Given the description of an element on the screen output the (x, y) to click on. 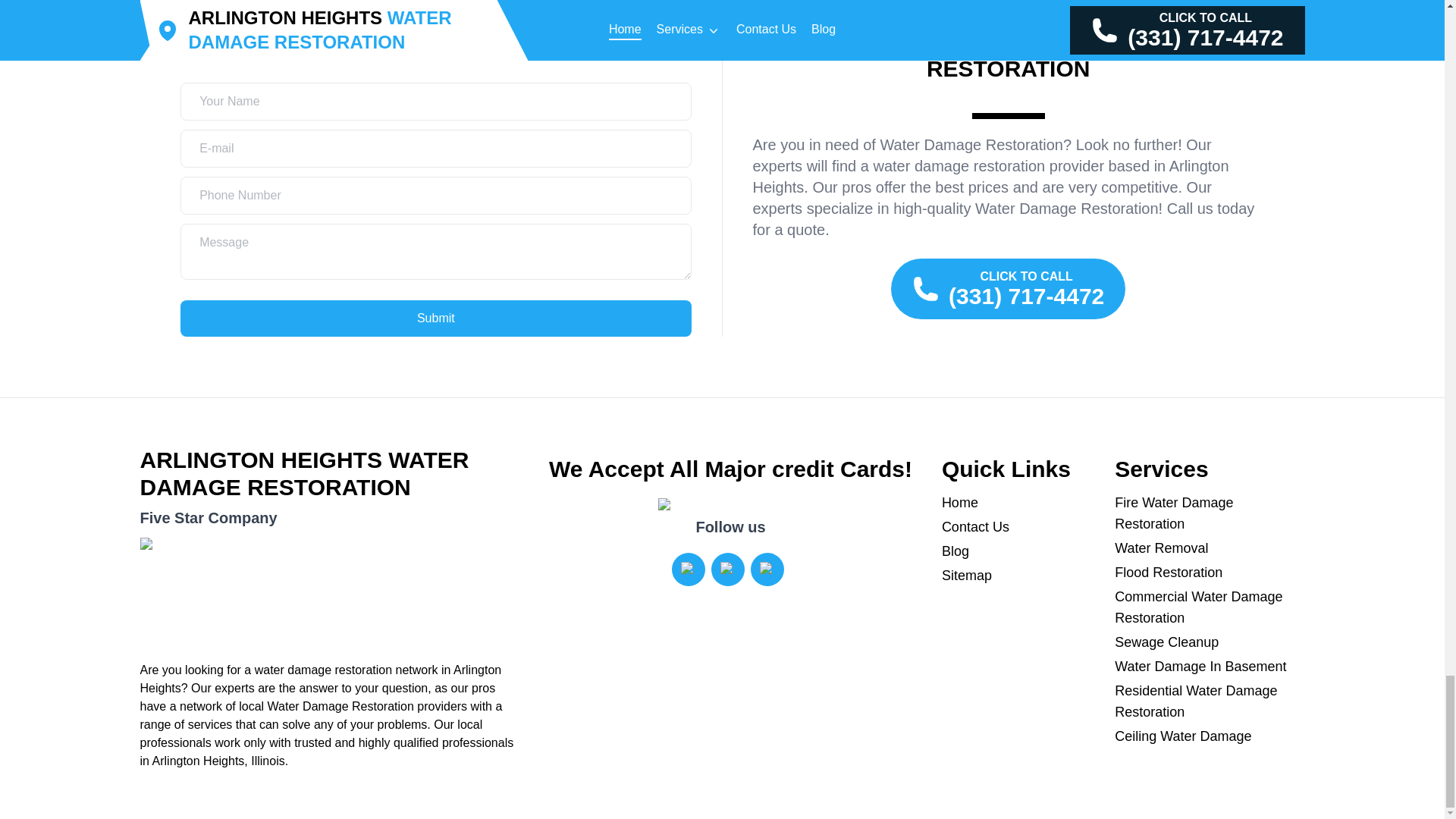
Submit (435, 318)
Star Set Image (329, 593)
Click to call us (1008, 288)
Instagram (687, 569)
Bank Card Image (730, 506)
Facebook logo (767, 569)
Facebook (767, 569)
Instagram icon (688, 569)
twitter logo (727, 569)
Twitter (727, 569)
